Given the description of an element on the screen output the (x, y) to click on. 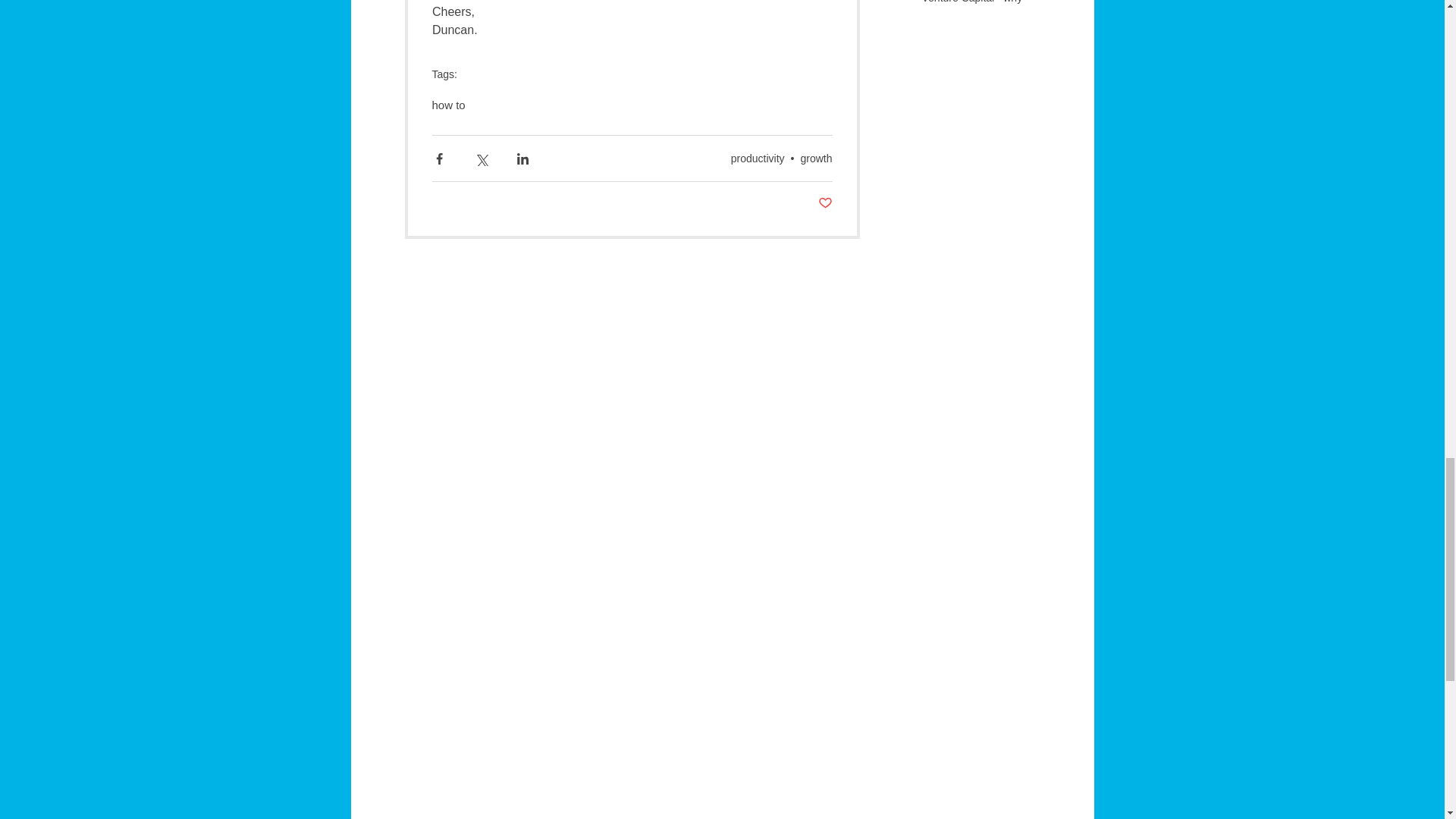
how to (448, 104)
growth (815, 157)
productivity (757, 157)
Post not marked as liked (823, 203)
